Given the description of an element on the screen output the (x, y) to click on. 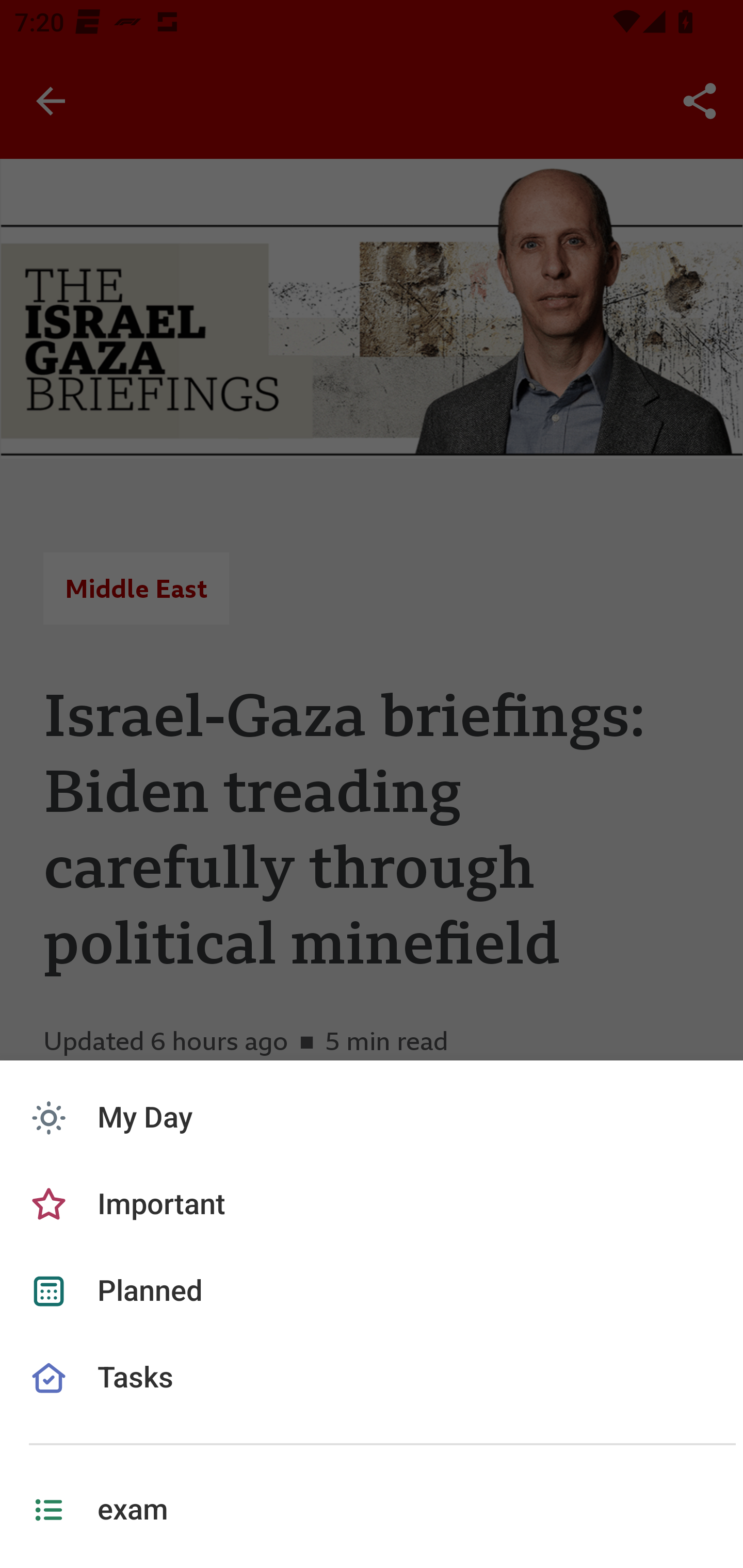
My Day, 0 tasks My Day (371, 1118)
Important, 0 tasks Important (371, 1204)
Planned, 0 tasks Planned (371, 1291)
Tasks (371, 1400)
exam (371, 1510)
